Given the description of an element on the screen output the (x, y) to click on. 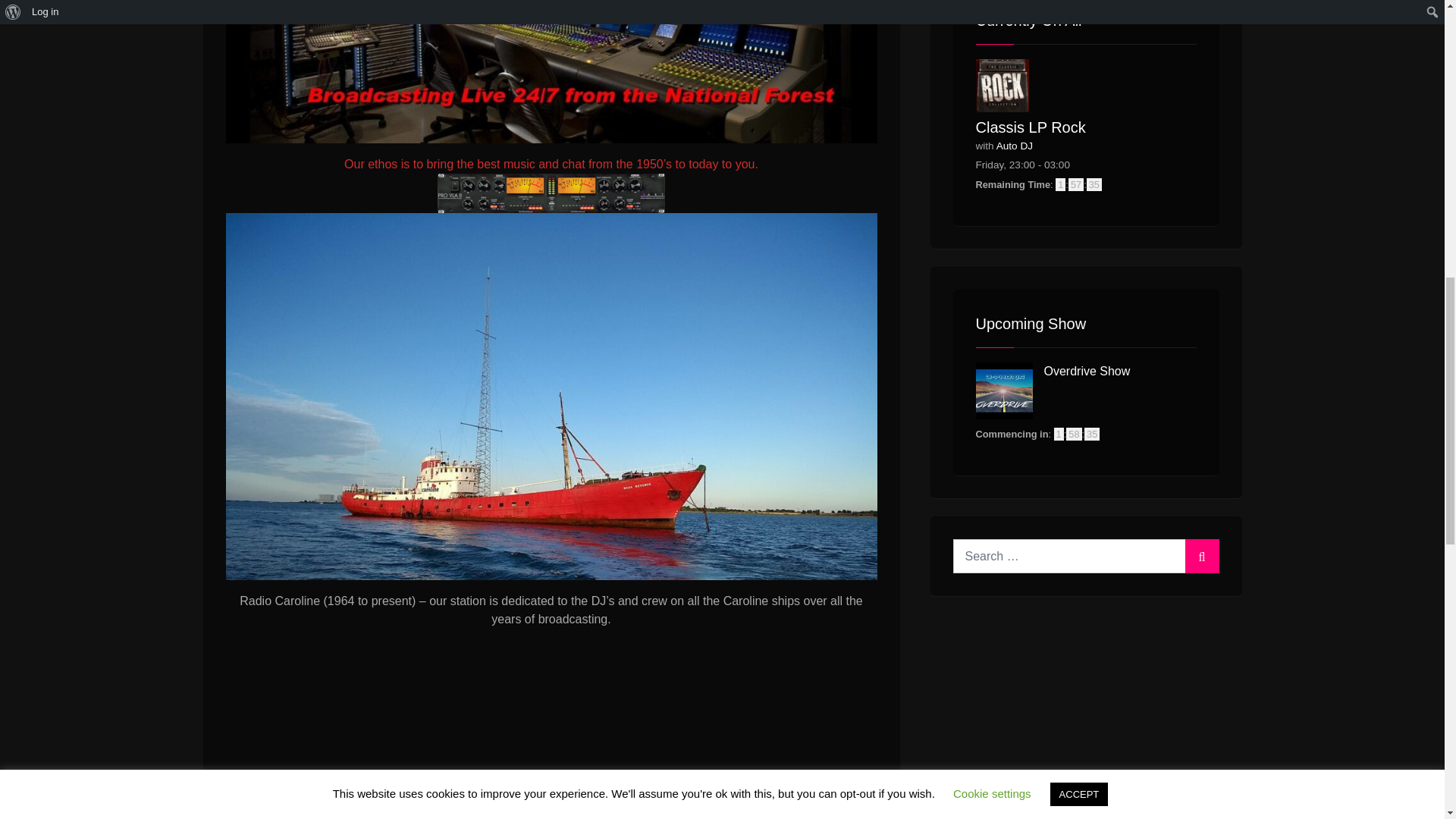
Auto DJ (1013, 145)
Overdrive Show (1086, 370)
Classis LP Rock (1029, 126)
Search for: (1085, 555)
